Given the description of an element on the screen output the (x, y) to click on. 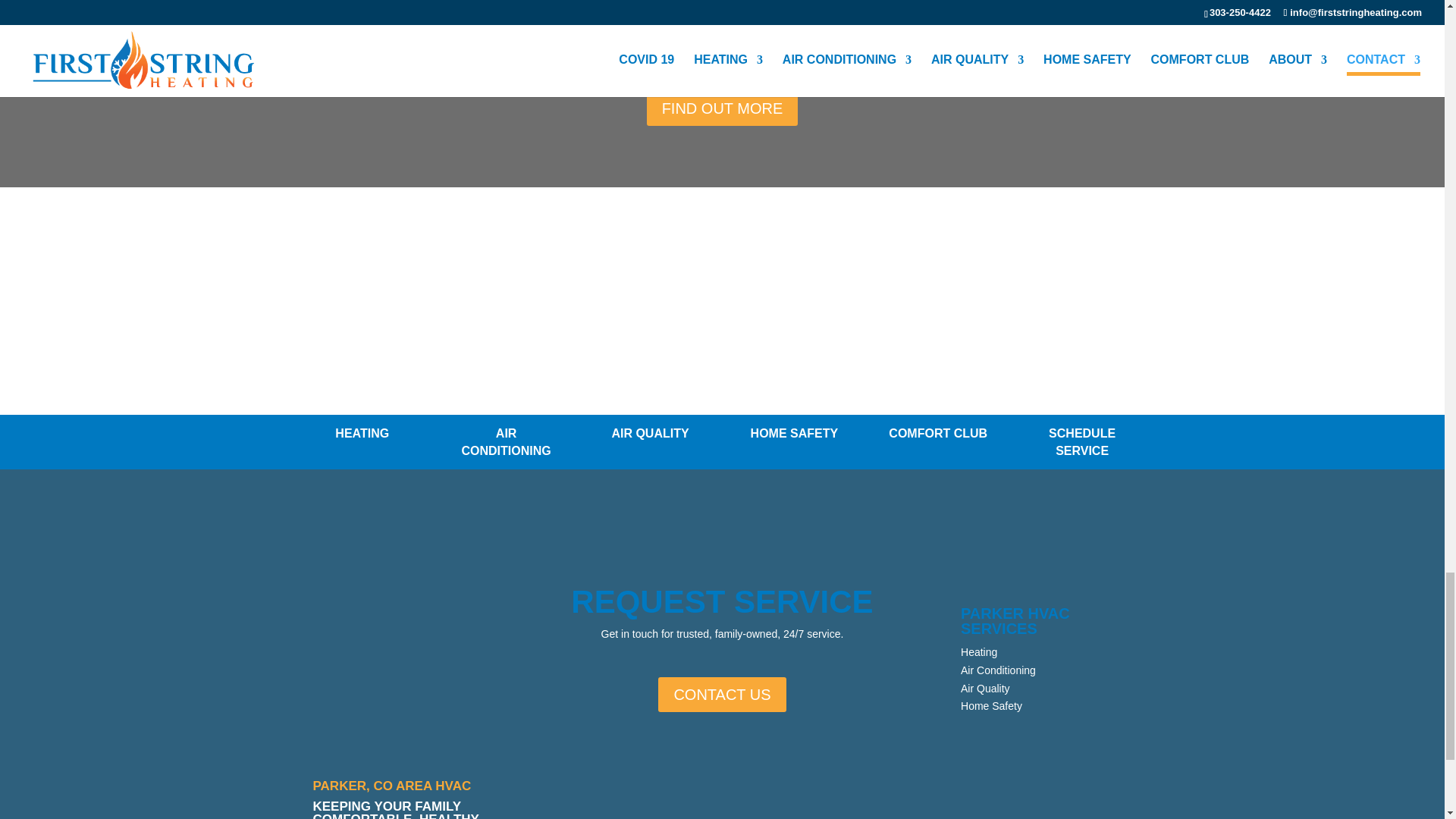
FIND OUT MORE (721, 108)
